Given the description of an element on the screen output the (x, y) to click on. 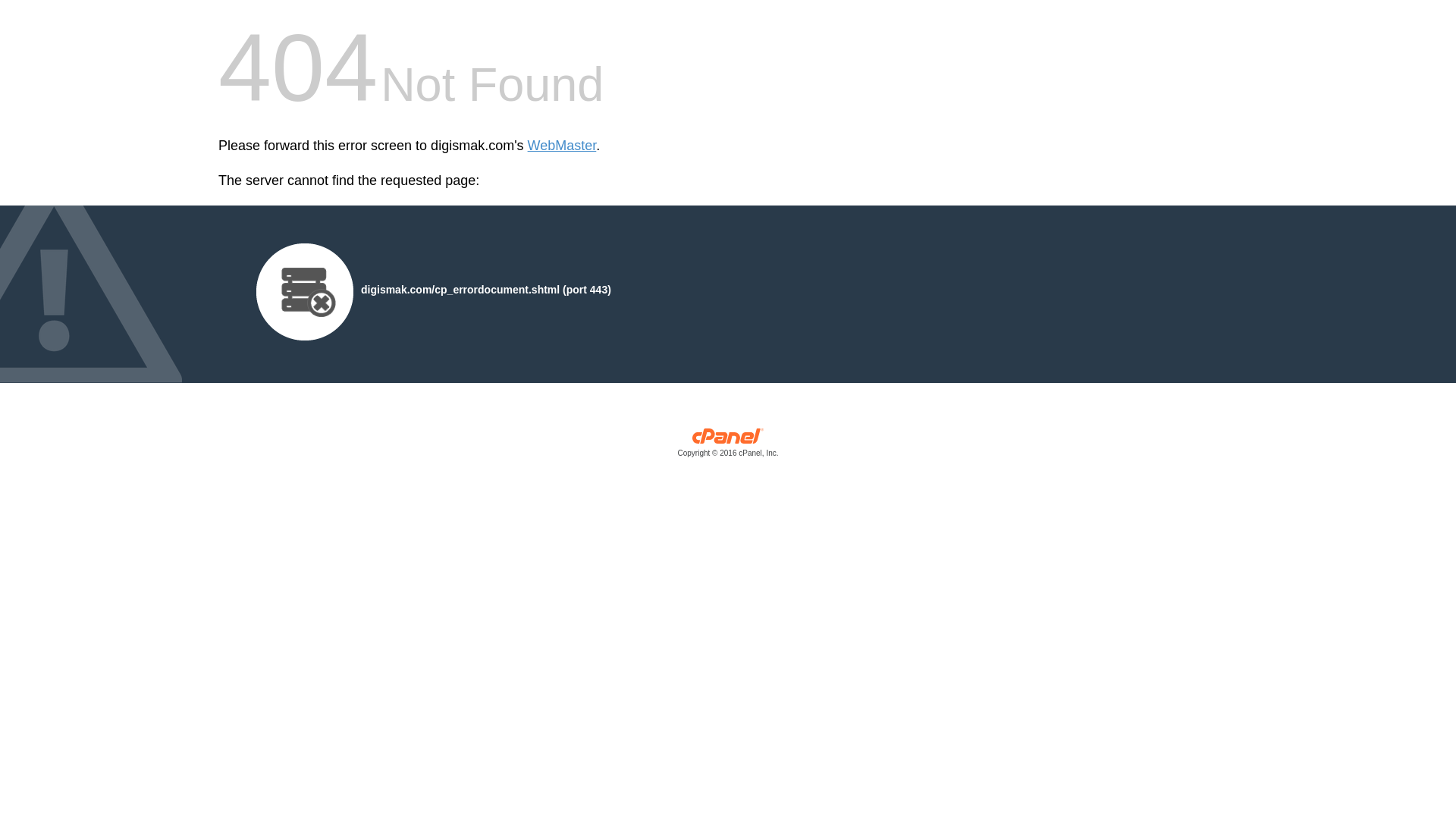
cPanel, Inc. (727, 446)
WebMaster (561, 145)
